Given the description of an element on the screen output the (x, y) to click on. 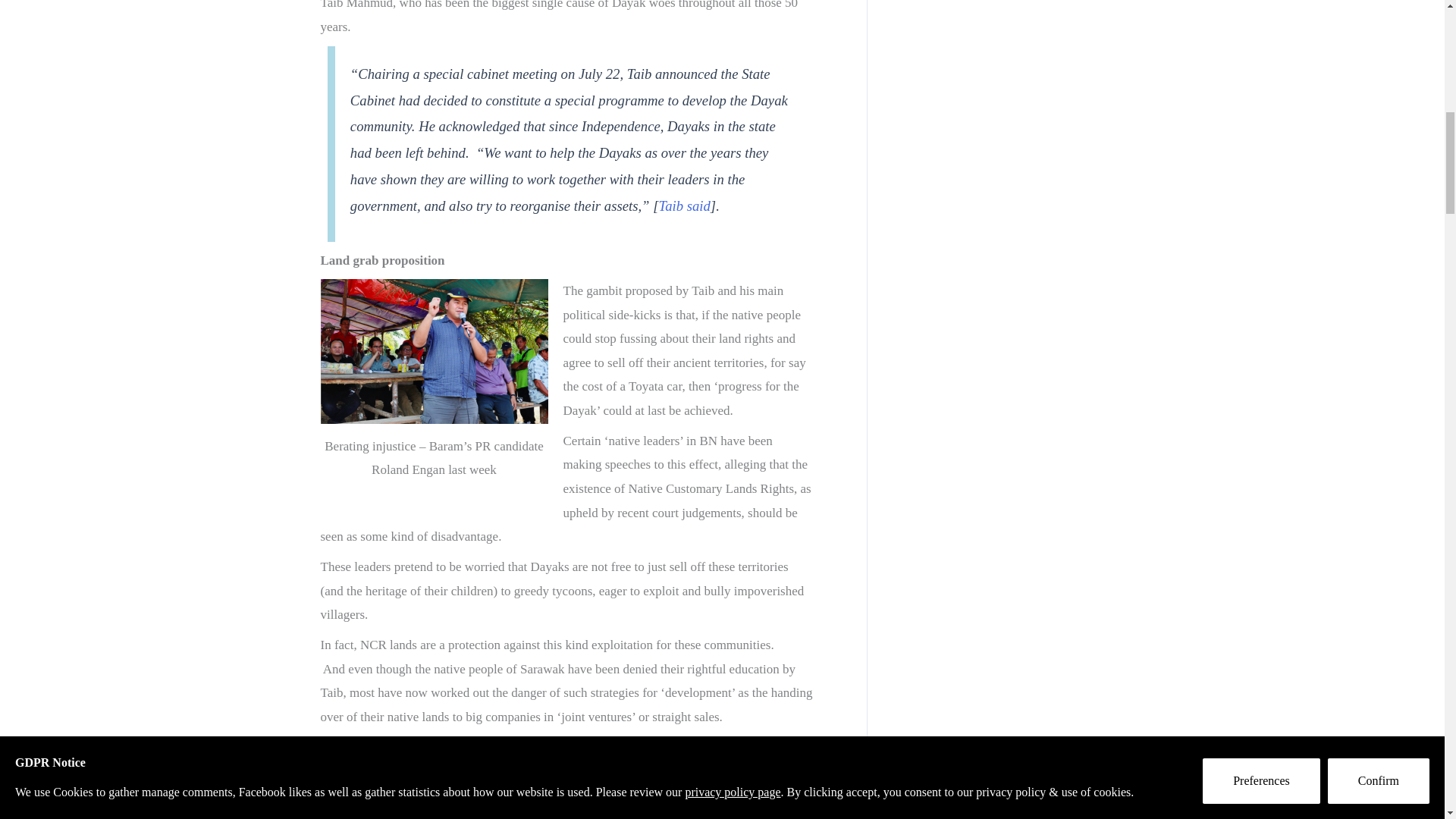
Advertisement (1012, 58)
Screen Shot 2013-08-04 at 20.48.26 (433, 351)
